Given the description of an element on the screen output the (x, y) to click on. 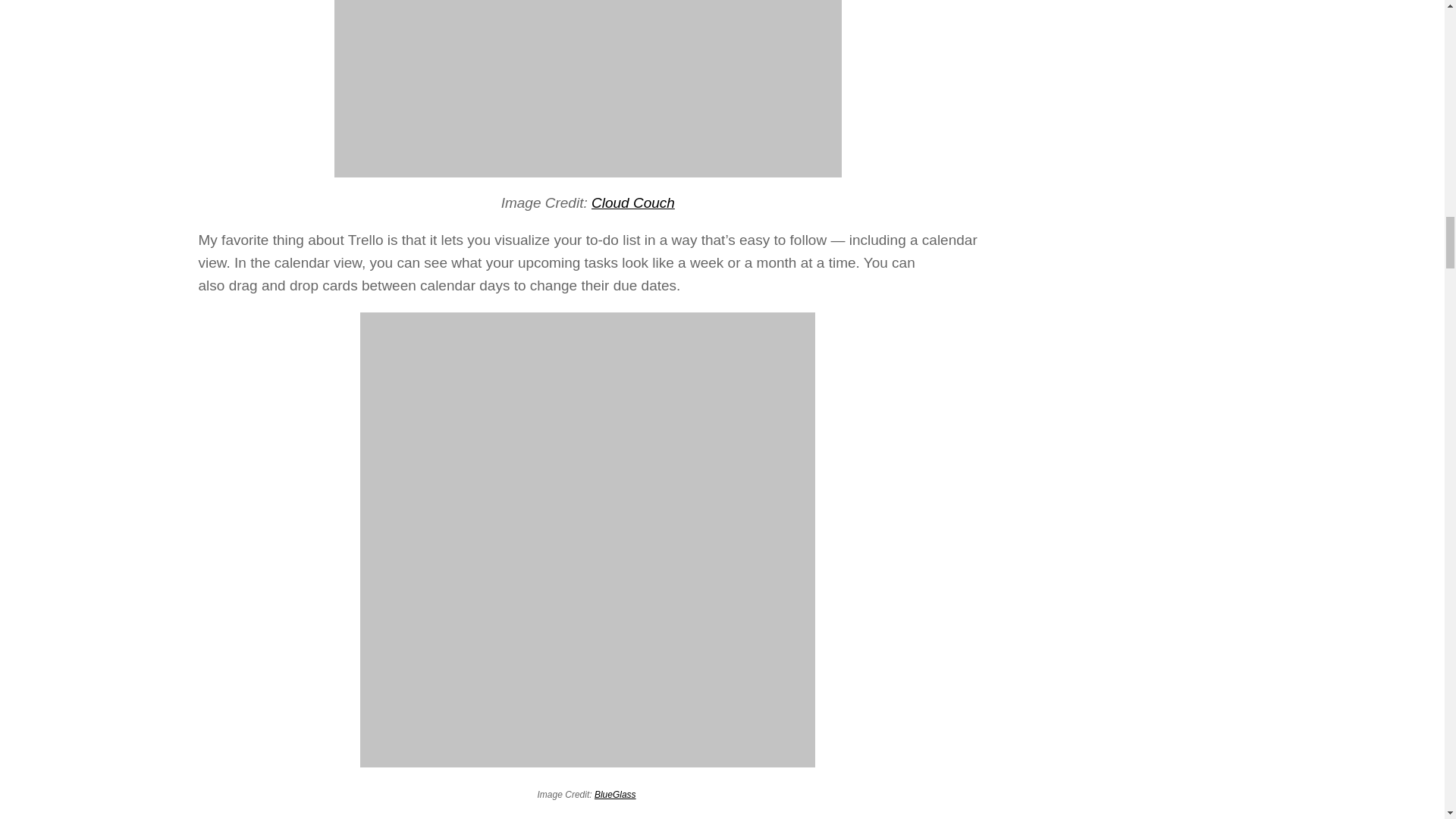
trello-tool.png (587, 88)
